Given the description of an element on the screen output the (x, y) to click on. 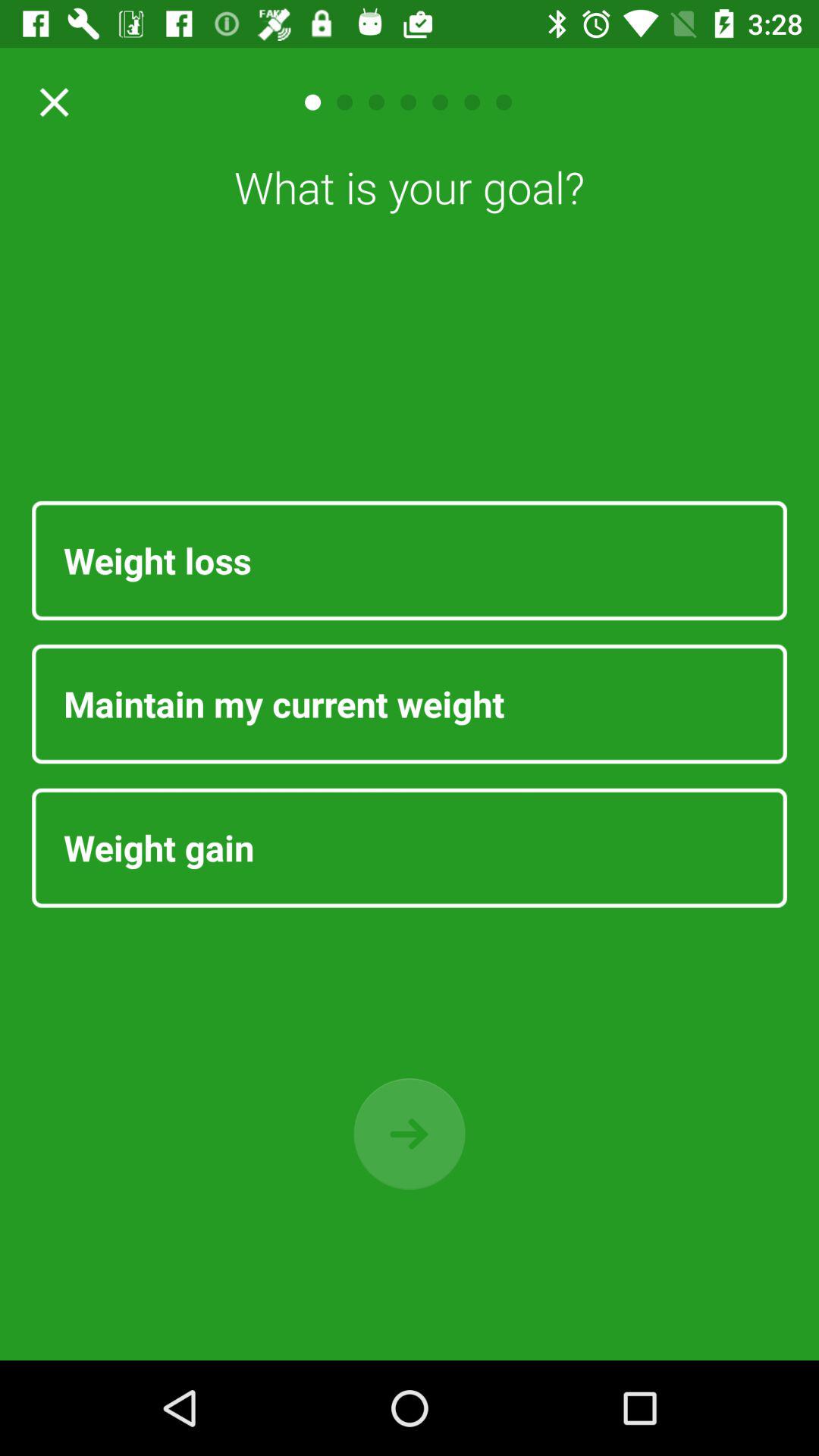
exit button (48, 102)
